Given the description of an element on the screen output the (x, y) to click on. 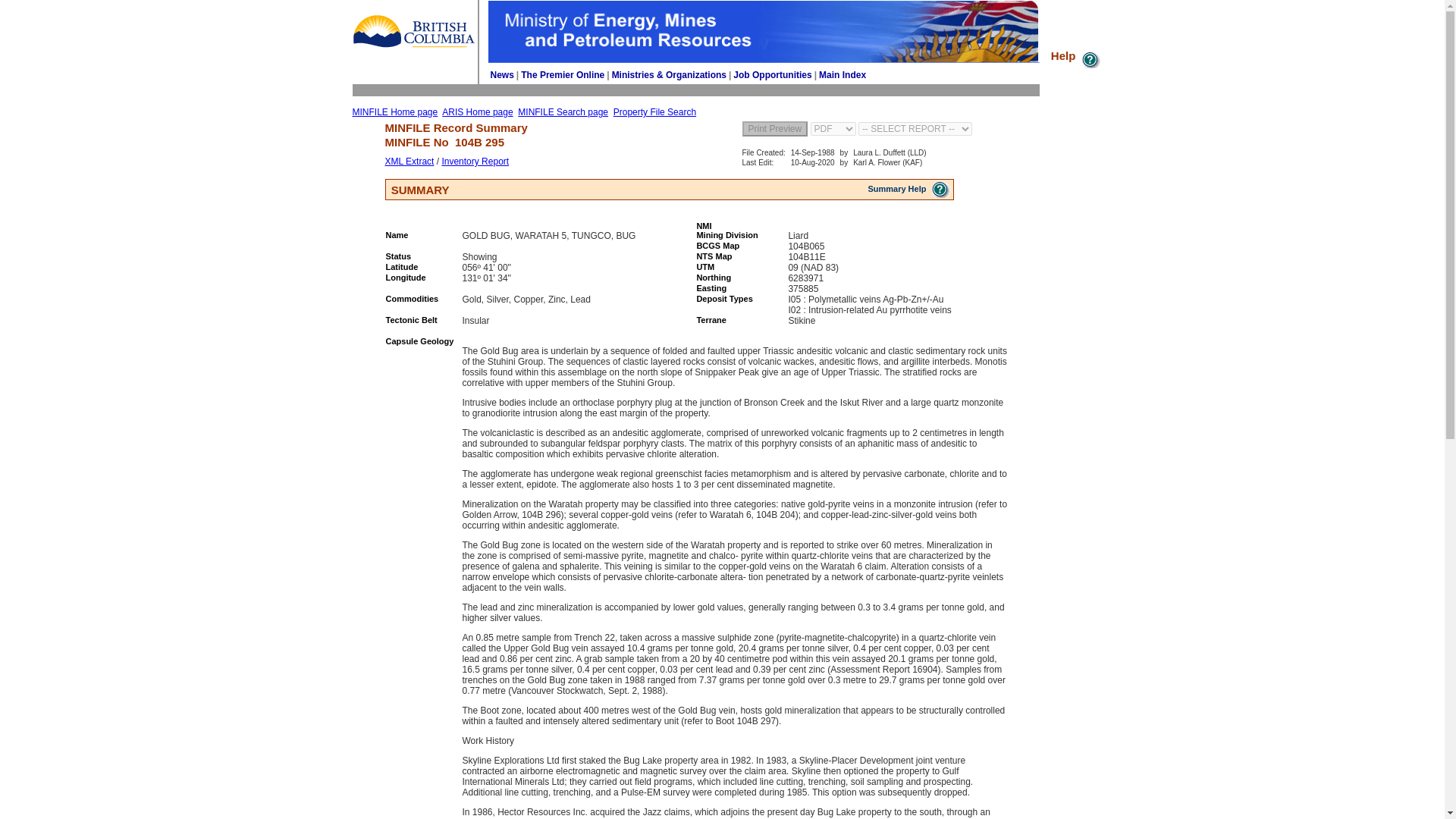
MINFILE Home page (395, 112)
Inventory Report (474, 161)
The Premier Online (562, 74)
ARIS Home page (477, 112)
XML Extract (409, 161)
Property File Search (653, 112)
MINFILE Search page (563, 112)
News (501, 74)
